Given the description of an element on the screen output the (x, y) to click on. 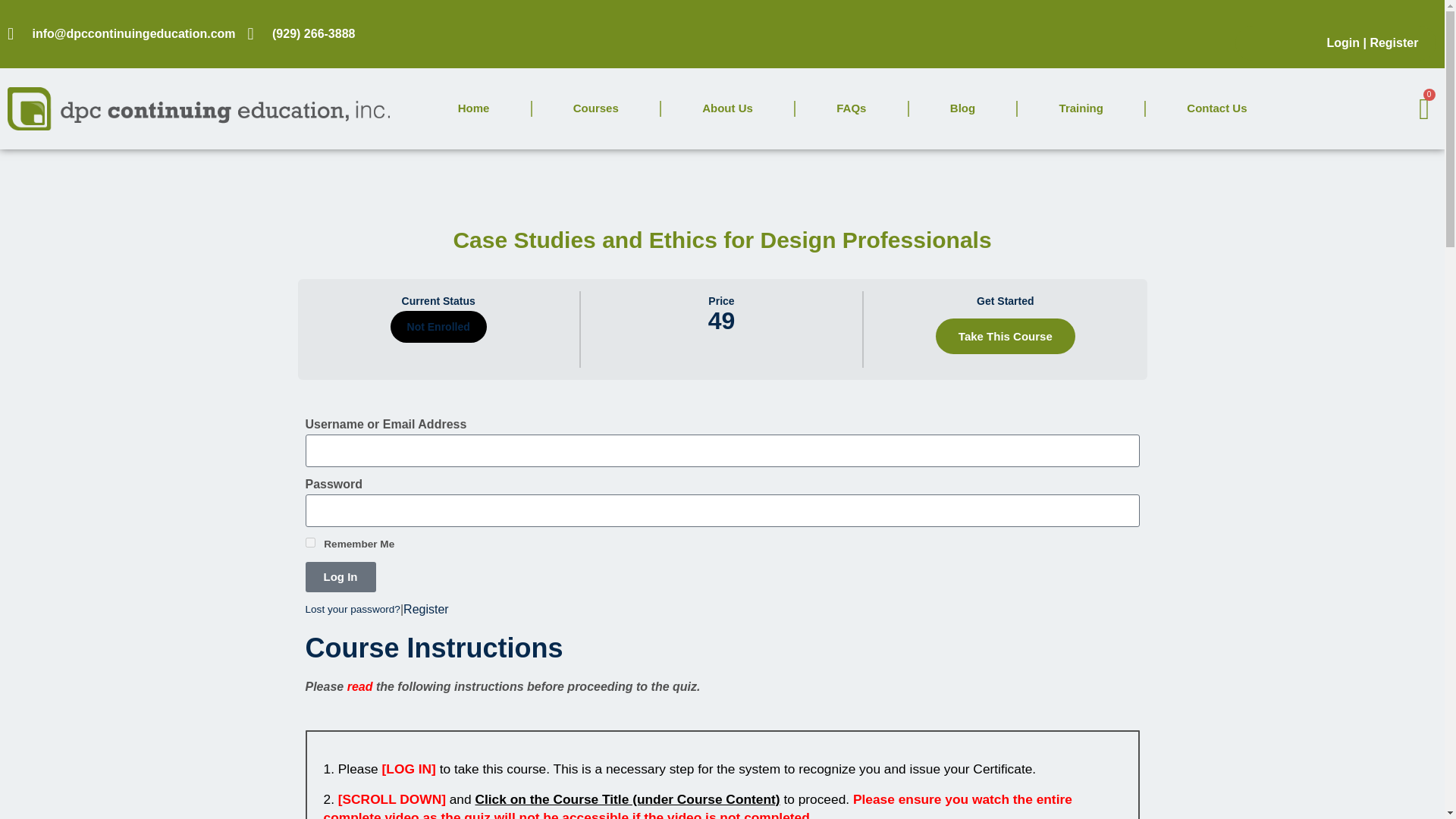
Home (472, 108)
Blog (962, 108)
forever (309, 542)
Training (1081, 108)
Courses (595, 108)
Contact Us (1217, 108)
About Us (727, 108)
FAQs (851, 108)
